Given the description of an element on the screen output the (x, y) to click on. 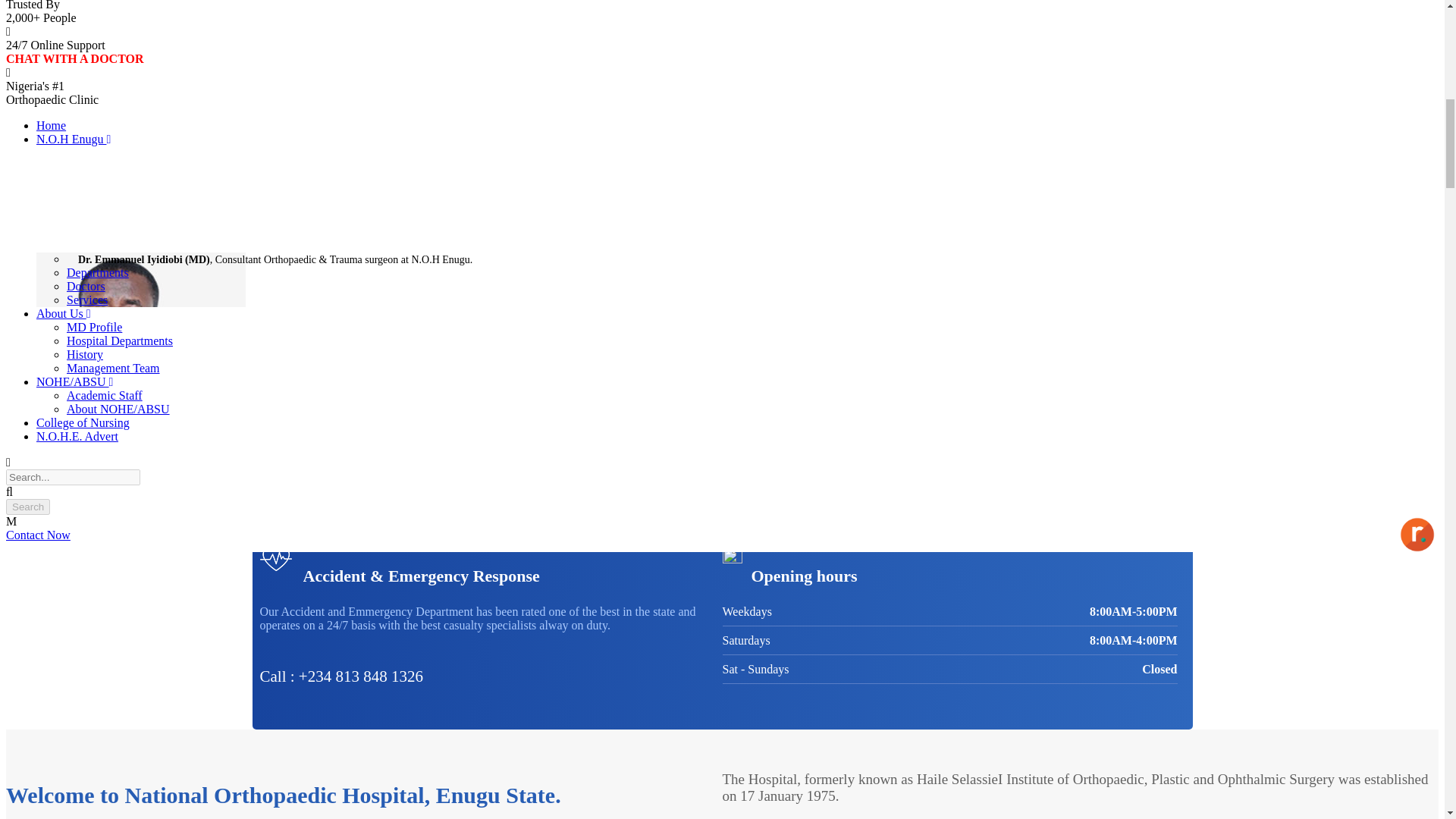
CHAT WITH A DOCTOR (74, 58)
MD Profile (94, 327)
Departments (97, 272)
N.O.H Enugu (73, 138)
Academic Staff (104, 395)
College of Nursing (82, 422)
Top-icon1 (275, 558)
N.O.H.E. Advert (76, 436)
Search (27, 506)
Services (86, 299)
